Given the description of an element on the screen output the (x, y) to click on. 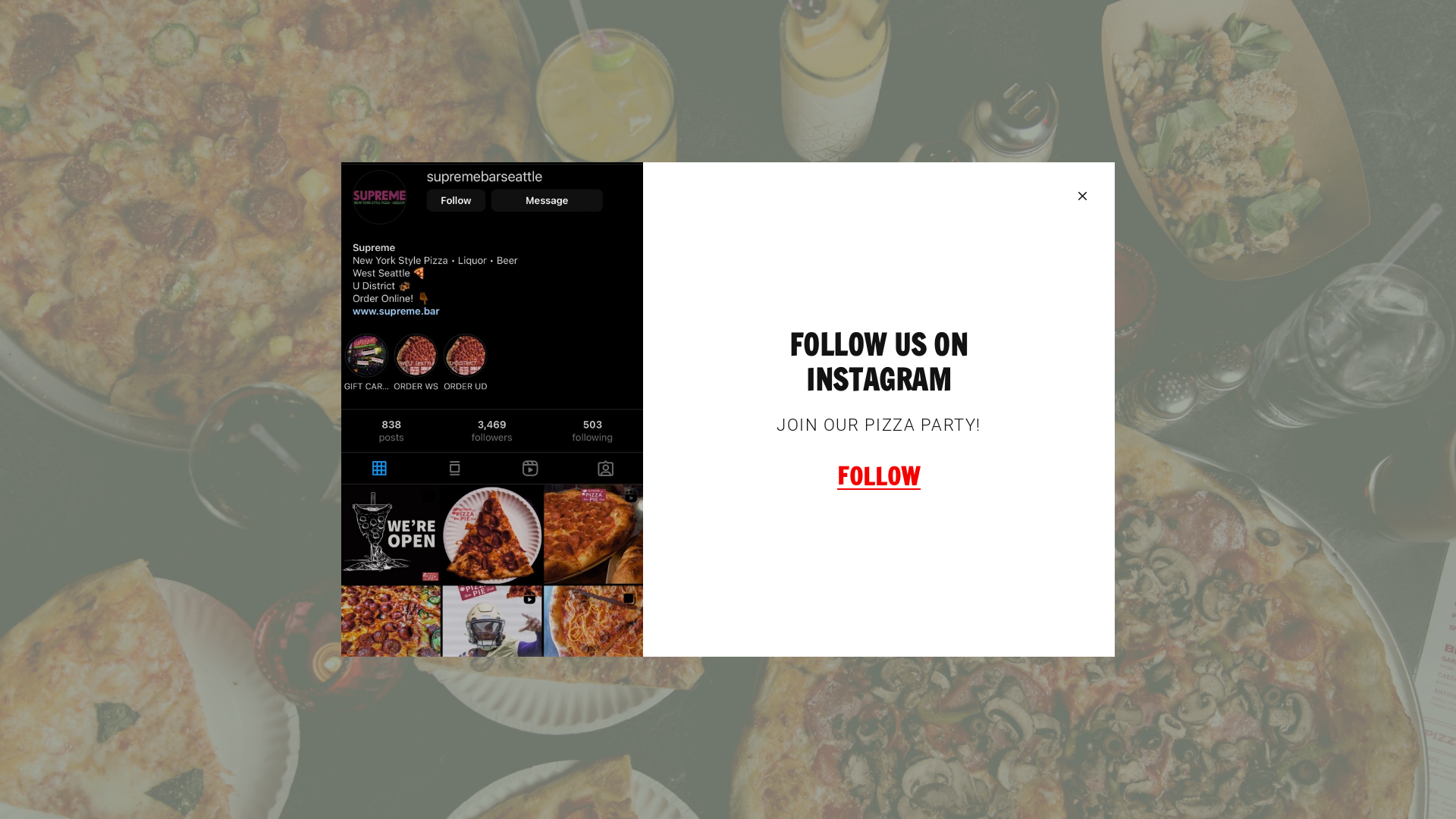
FOLLOW Element type: text (878, 476)
WEST SEATTLE Element type: text (512, 525)
UNIVERSITY DISTRICT Element type: text (944, 525)
